Given the description of an element on the screen output the (x, y) to click on. 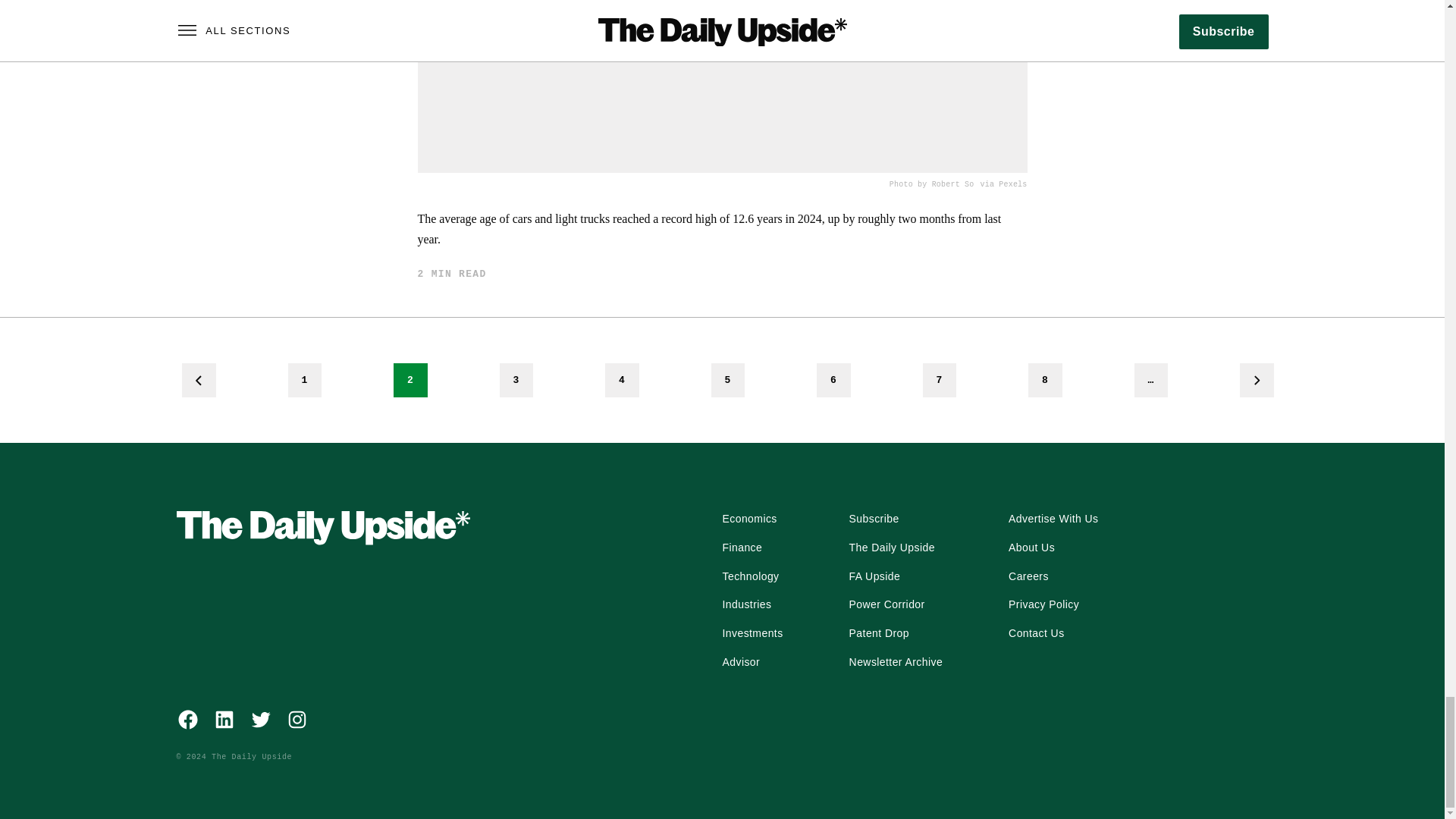
Advisor articles (741, 662)
Investment articles (752, 633)
Finance Articles (741, 547)
Technology articles (750, 576)
Industry articles (746, 605)
Economics Articles (749, 519)
